Given the description of an element on the screen output the (x, y) to click on. 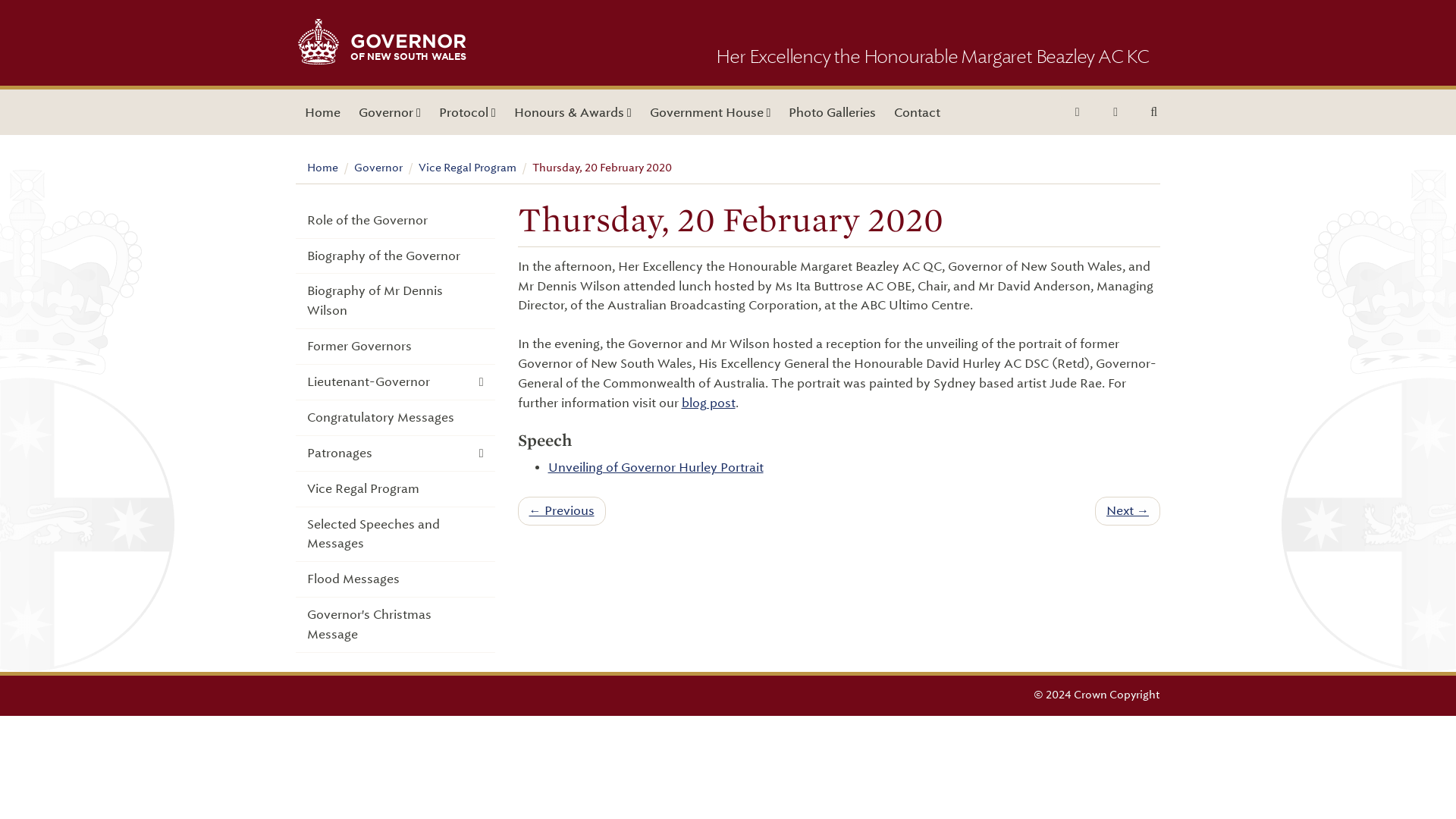
Governor of New South Wales (407, 46)
Governor of New South Wales (317, 60)
More about Honours and Awards (572, 112)
More about Protocol (467, 112)
More about Government House (710, 112)
More about Home (322, 112)
Follow us on Facebook (1076, 112)
More about Photo Galleries (831, 112)
Follow us on Instagram (1115, 112)
Governor (389, 112)
Protocol (467, 112)
More about Contact (917, 112)
Home (407, 46)
Government House (322, 112)
